Given the description of an element on the screen output the (x, y) to click on. 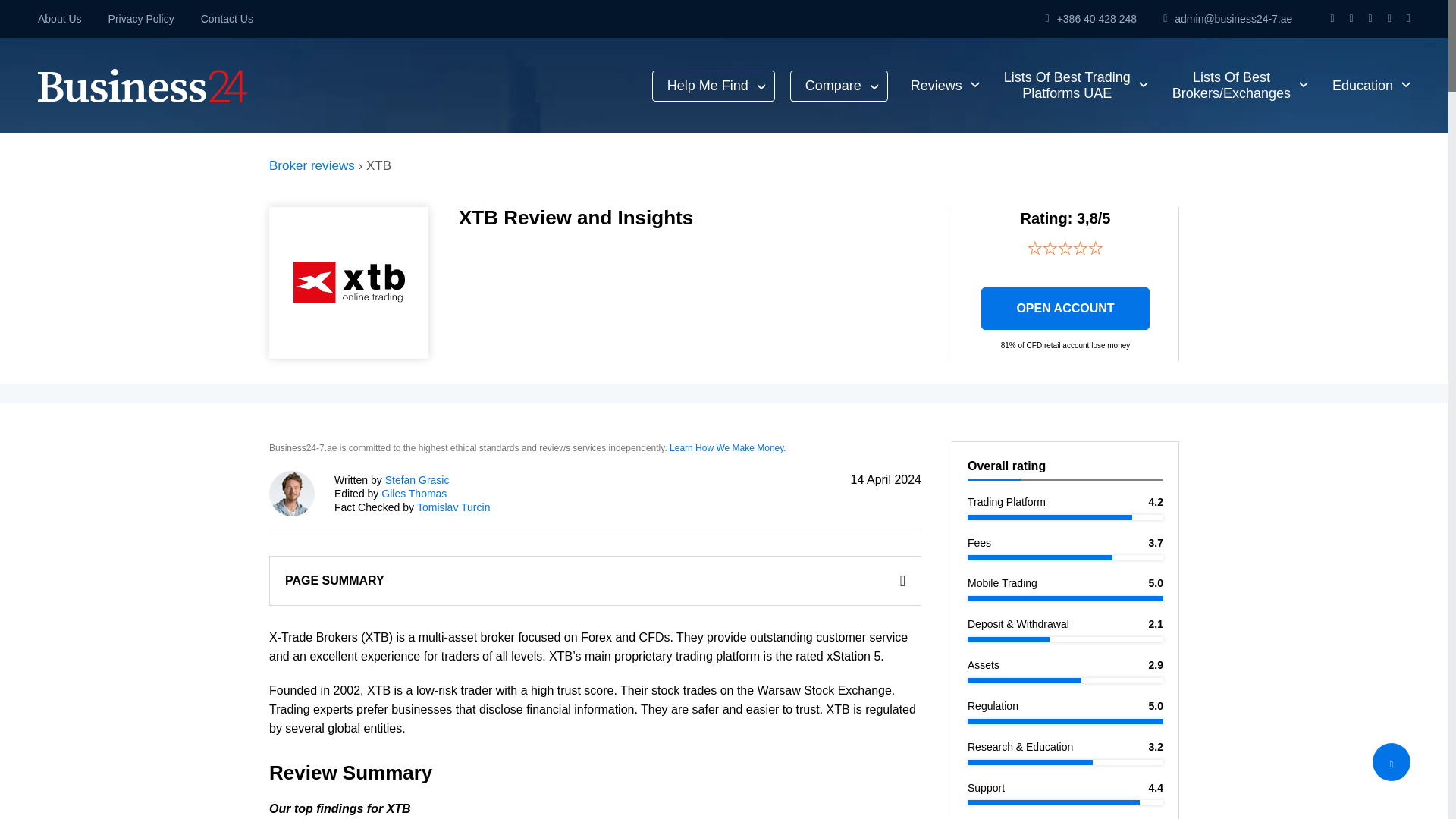
About Us (59, 19)
Written by  (417, 480)
Reviews (941, 85)
Help Me Find (713, 84)
Contact Us (226, 19)
Compare (1072, 85)
Privacy Policy (839, 84)
Edited by  (140, 19)
Fact Checked by  (413, 493)
